Given the description of an element on the screen output the (x, y) to click on. 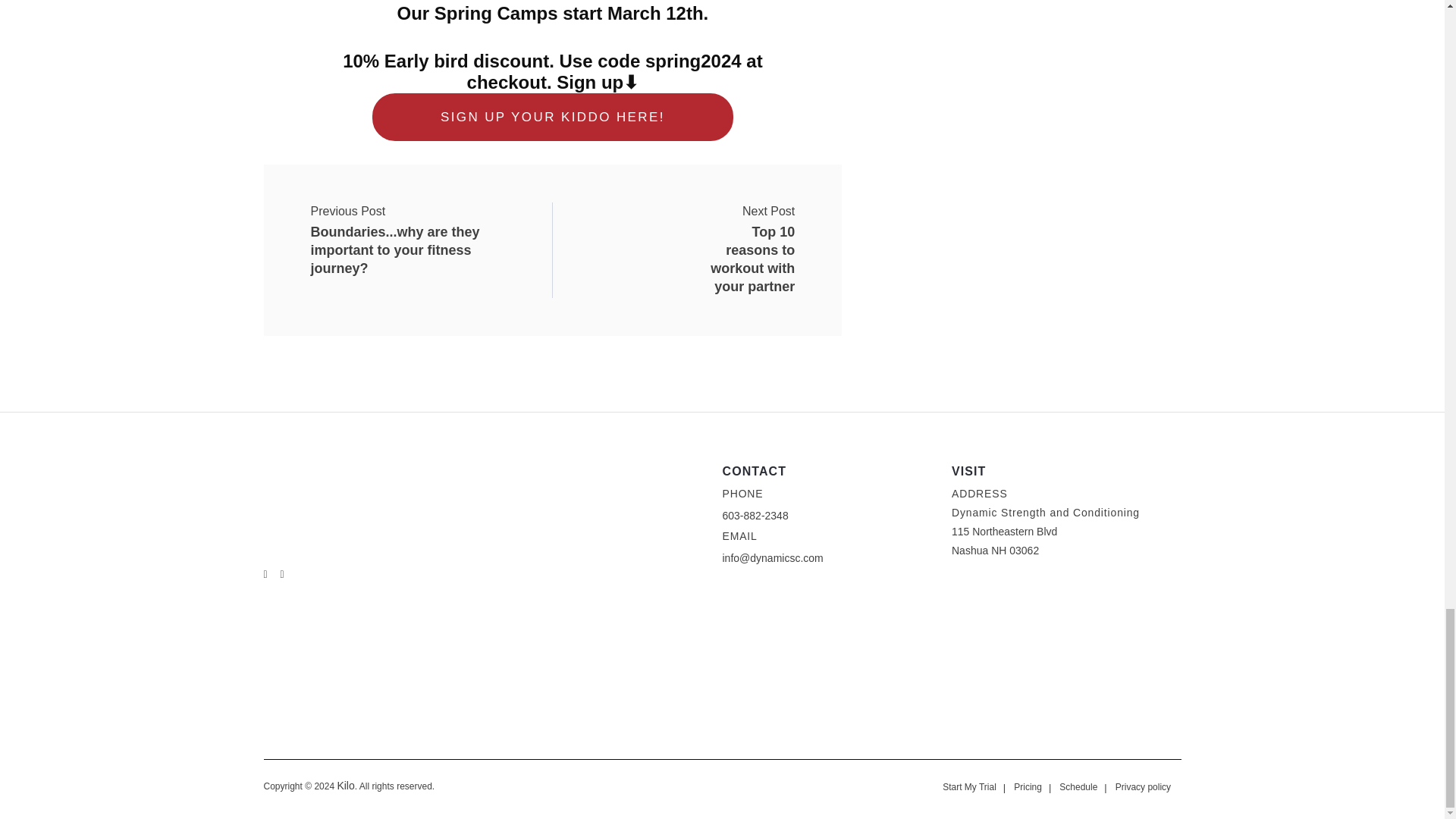
SIGN UP YOUR KIDDO HERE! (733, 221)
Top 10 reasons to workout with your partner (552, 116)
